Given the description of an element on the screen output the (x, y) to click on. 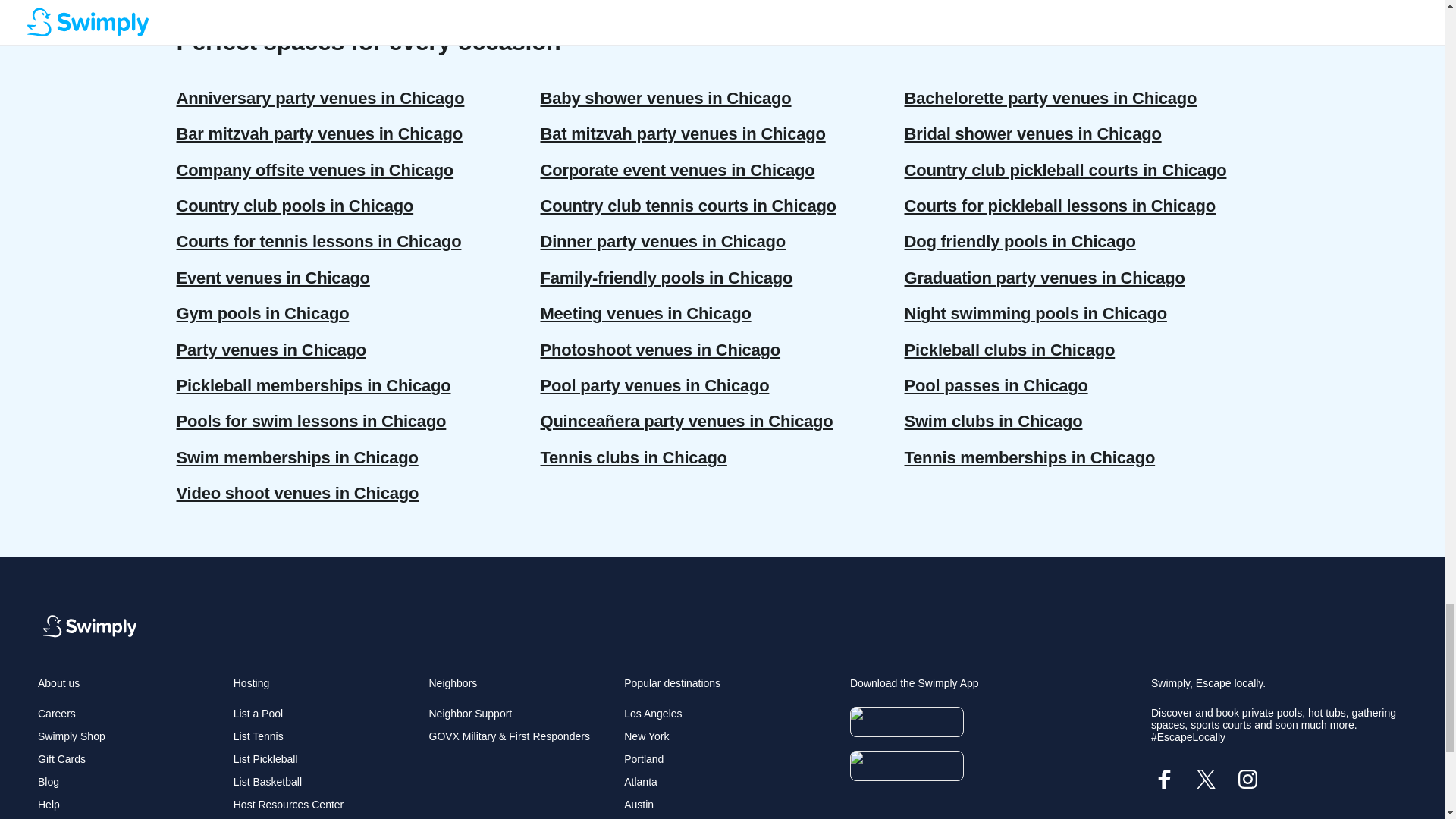
List a Pool (257, 713)
Careers (56, 713)
Gift Cards (61, 758)
Neighbor Support (470, 713)
List Tennis (257, 736)
Swimply Shop (70, 736)
Los Angeles (652, 713)
Host Resources Center (287, 804)
List Basketball (266, 781)
Blog (48, 781)
